Given the description of an element on the screen output the (x, y) to click on. 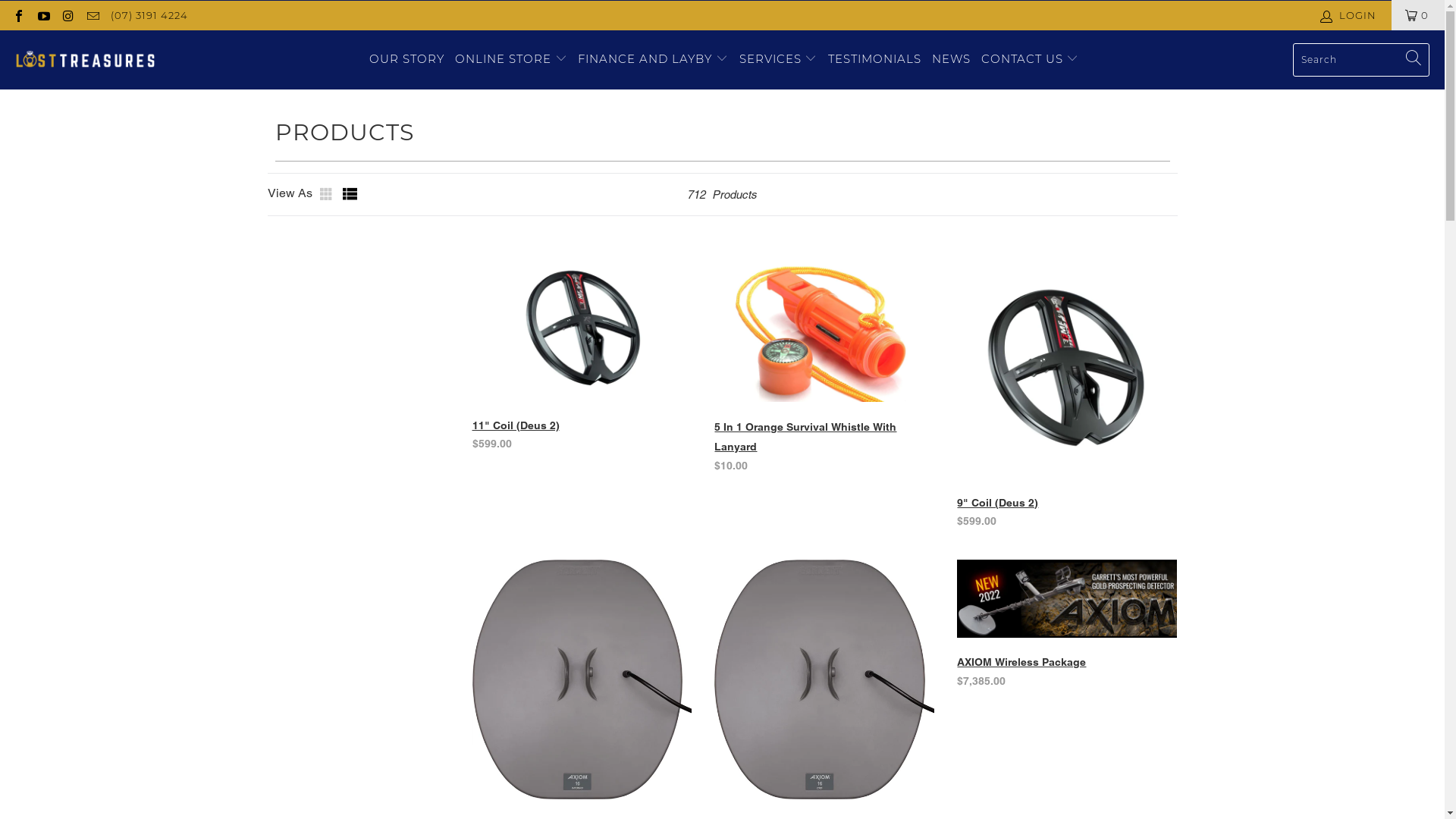
NEWS Element type: text (950, 59)
Email Lost Treasures Element type: hover (91, 14)
Lost Treasures Element type: hover (85, 59)
OUR STORY Element type: text (406, 59)
AXIOM Wireless Package Element type: text (1021, 661)
SERVICES Element type: text (777, 59)
LOGIN Element type: text (1349, 15)
9" Coil (Deus 2) Element type: text (997, 501)
Lost Treasures on Instagram Element type: hover (67, 14)
ONLINE STORE Element type: text (511, 59)
TESTIMONIALS Element type: text (874, 59)
FINANCE AND LAYBY Element type: text (652, 59)
CONTACT US Element type: text (1030, 59)
List view Element type: text (349, 193)
11" Coil (Deus 2) Element type: text (514, 424)
0 Element type: text (1417, 15)
Grid view Element type: text (327, 193)
(07) 3191 4224 Element type: text (149, 15)
Lost Treasures on YouTube Element type: hover (42, 14)
5 In 1 Orange Survival Whistle With Lanyard Element type: text (805, 436)
Lost Treasures on Facebook Element type: hover (18, 14)
